Given the description of an element on the screen output the (x, y) to click on. 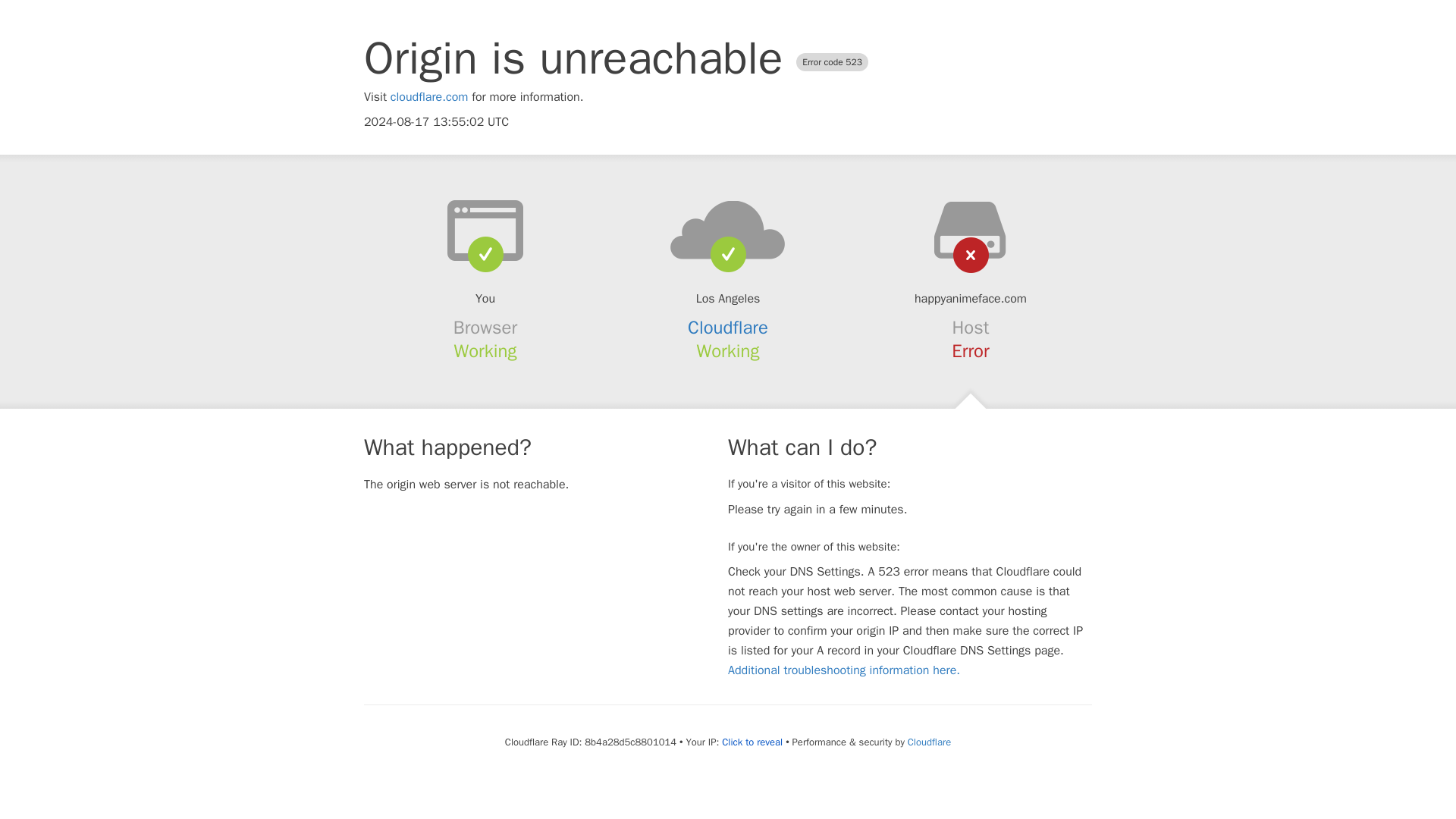
cloudflare.com (429, 96)
Cloudflare (928, 741)
Cloudflare (727, 327)
Click to reveal (752, 742)
Additional troubleshooting information here. (843, 670)
